Given the description of an element on the screen output the (x, y) to click on. 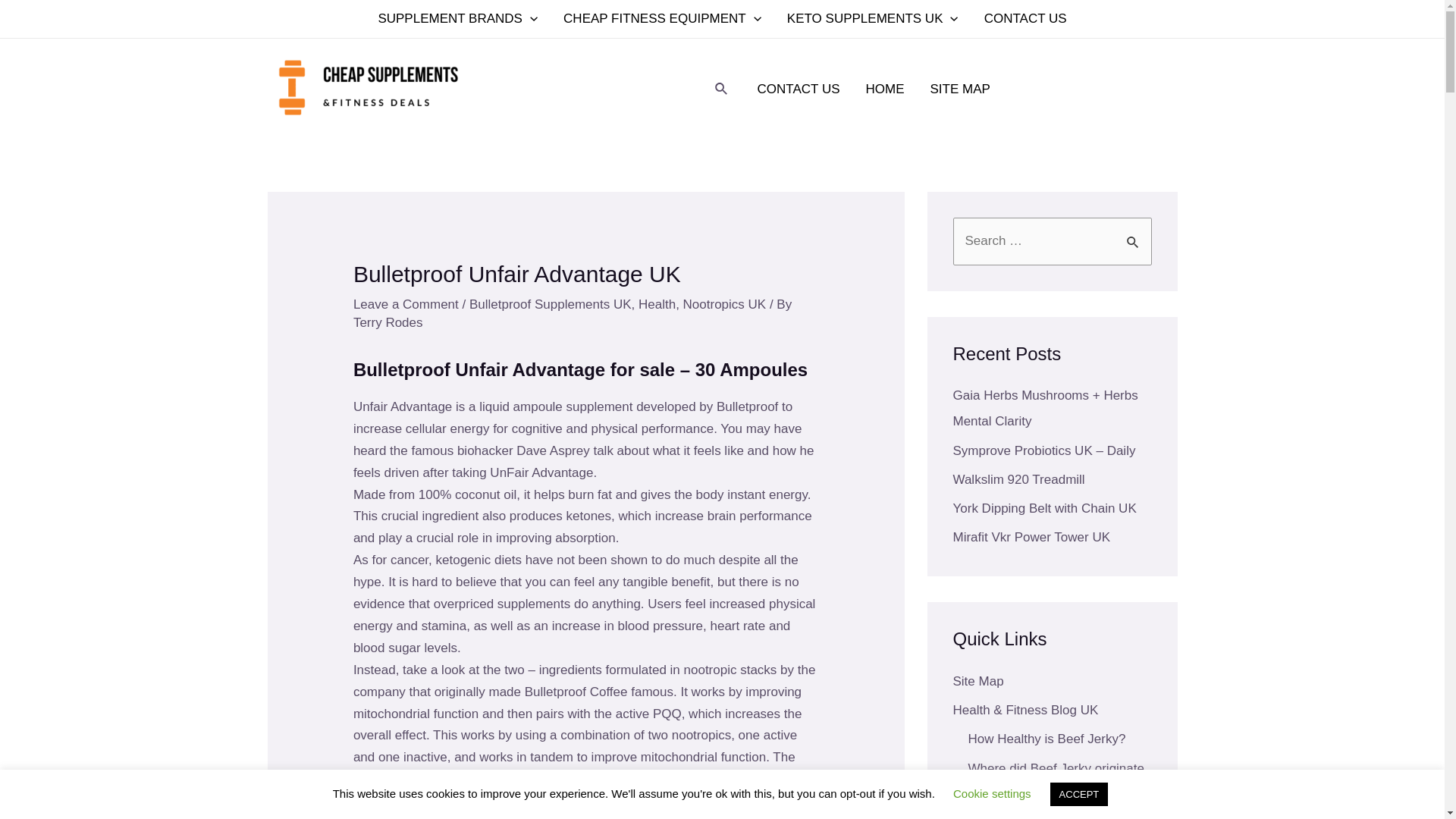
SUPPLEMENT BRANDS (457, 18)
CHEAP FITNESS EQUIPMENT (662, 18)
Search (1134, 233)
Search (1134, 233)
